Given the description of an element on the screen output the (x, y) to click on. 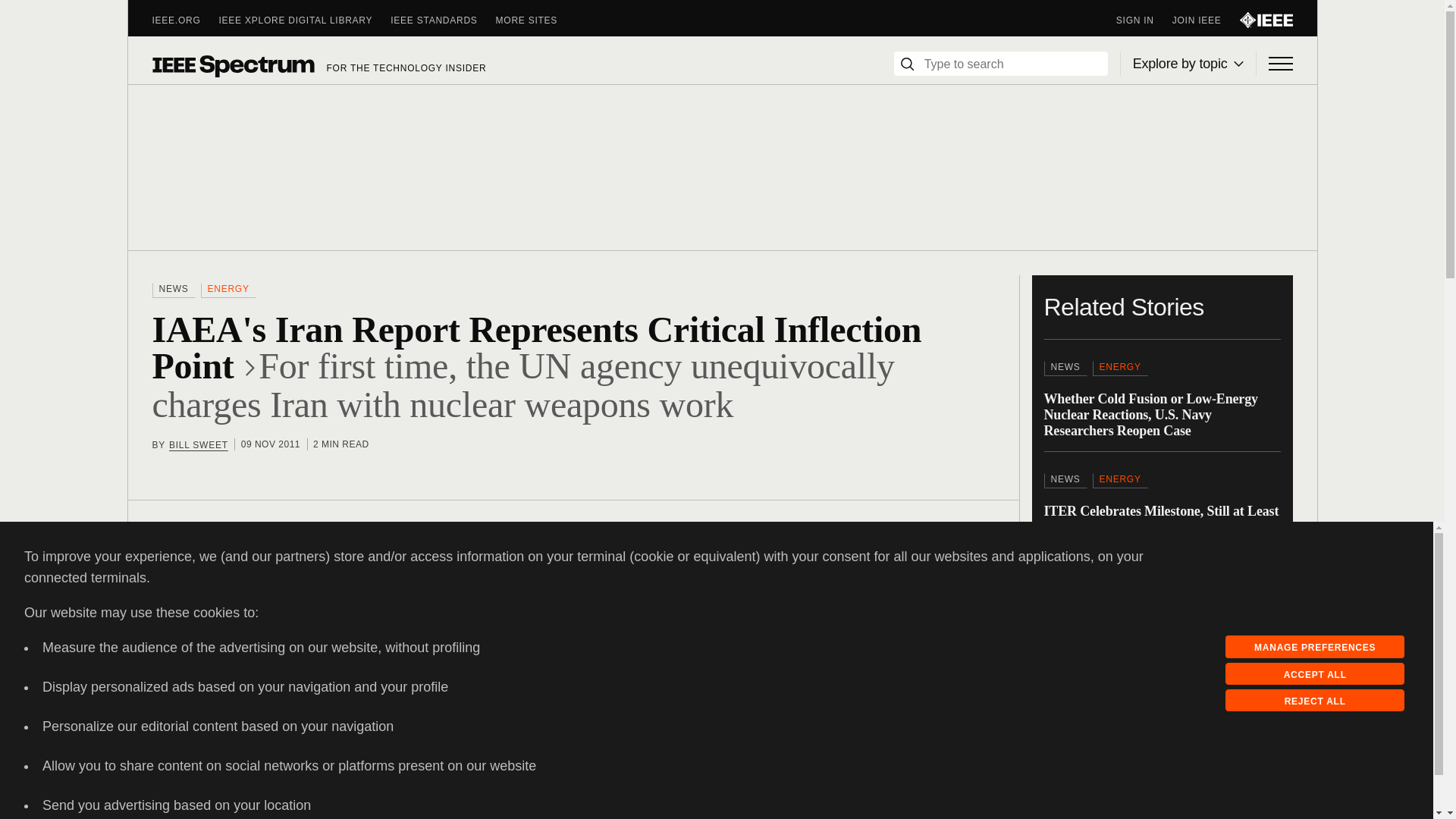
Spectrum Logo (232, 64)
SIGN IN (1144, 20)
IEEE.ORG (184, 20)
MANAGE PREFERENCES (1315, 646)
MORE SITES (536, 20)
Search (907, 63)
IEEE STANDARDS (442, 20)
ACCEPT ALL (1315, 673)
IEEE XPLORE DIGITAL LIBRARY (305, 20)
REJECT ALL (1315, 700)
